Given the description of an element on the screen output the (x, y) to click on. 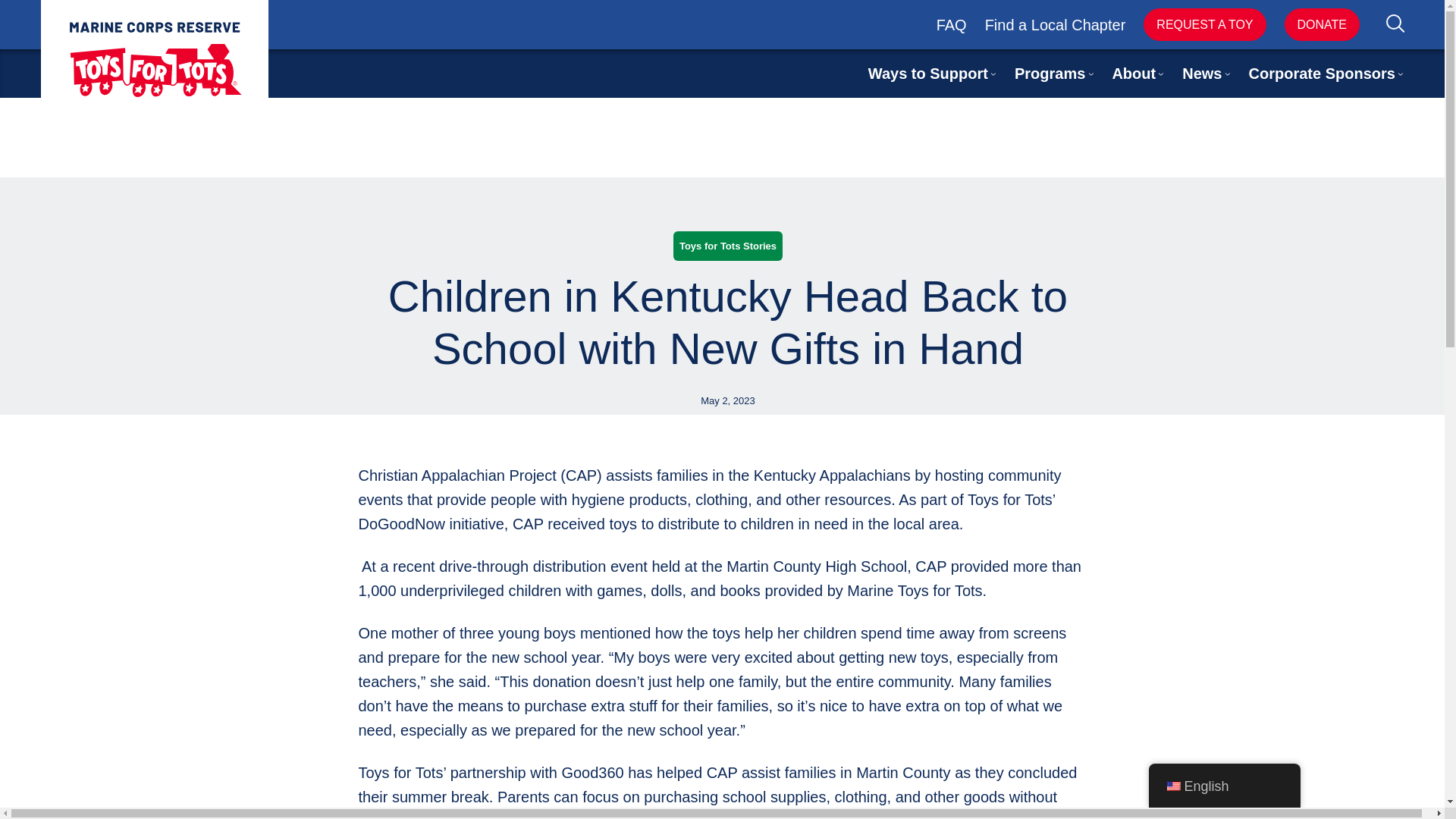
Programs (1049, 73)
English (1172, 786)
Toys for Tots (153, 58)
Ways to Support (927, 73)
News (1201, 73)
FAQ (951, 24)
REQUEST A TOY (1203, 24)
DONATE (1321, 24)
Find a (1007, 24)
About (1134, 73)
Local Chapter (1077, 24)
